Given the description of an element on the screen output the (x, y) to click on. 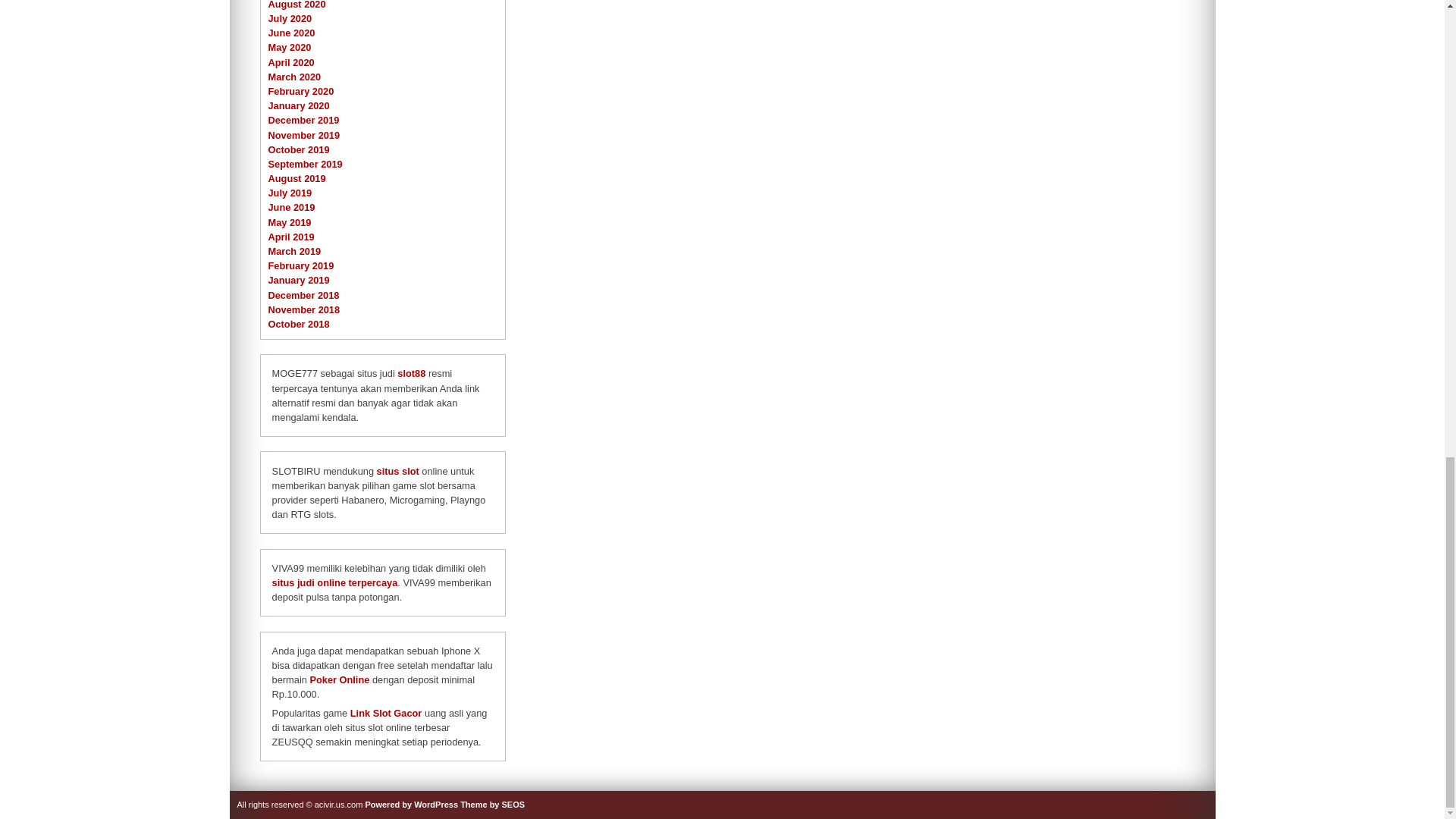
Seos free wordpress themes (492, 804)
